Given the description of an element on the screen output the (x, y) to click on. 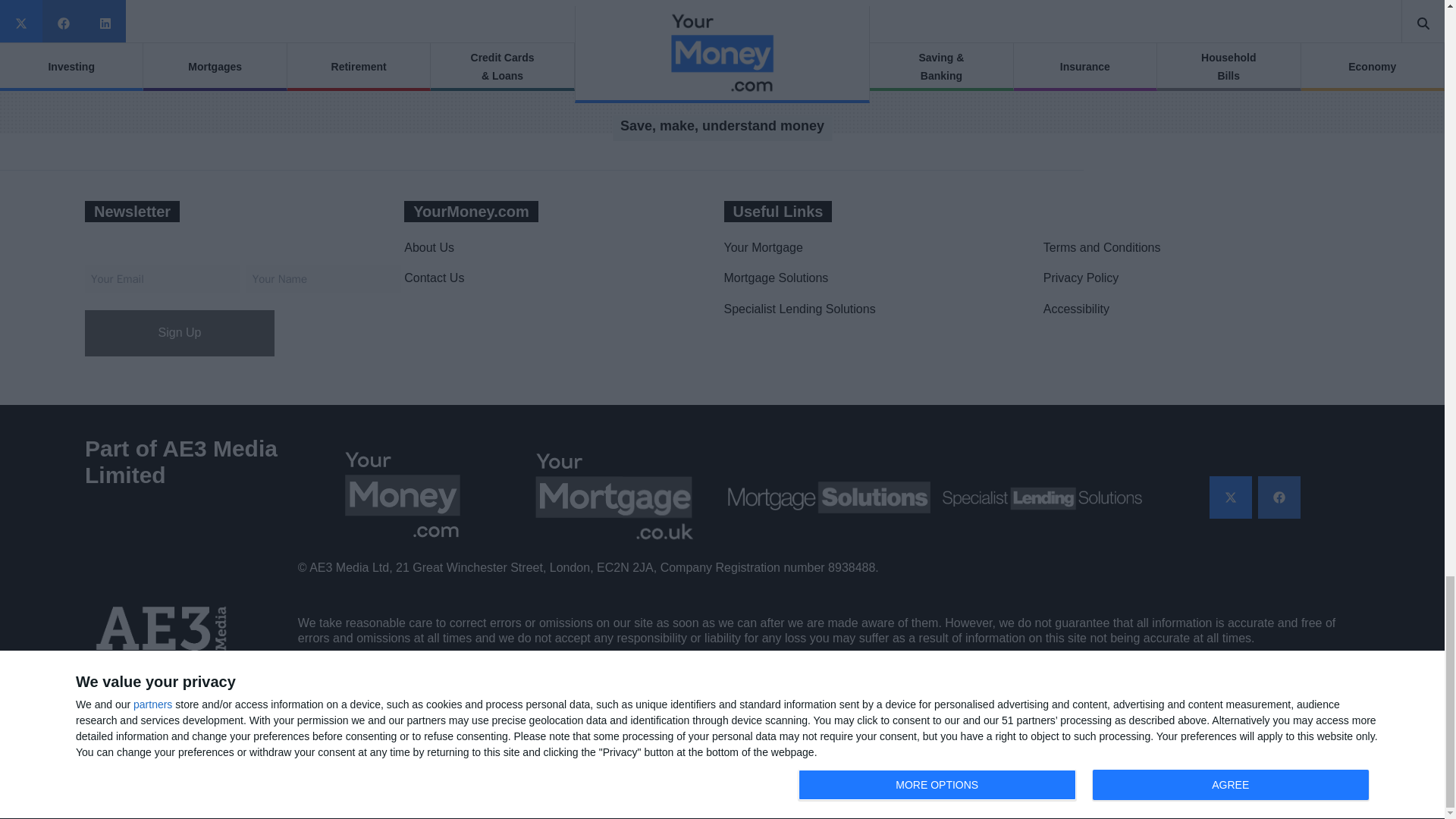
Sign Up (179, 333)
